Given the description of an element on the screen output the (x, y) to click on. 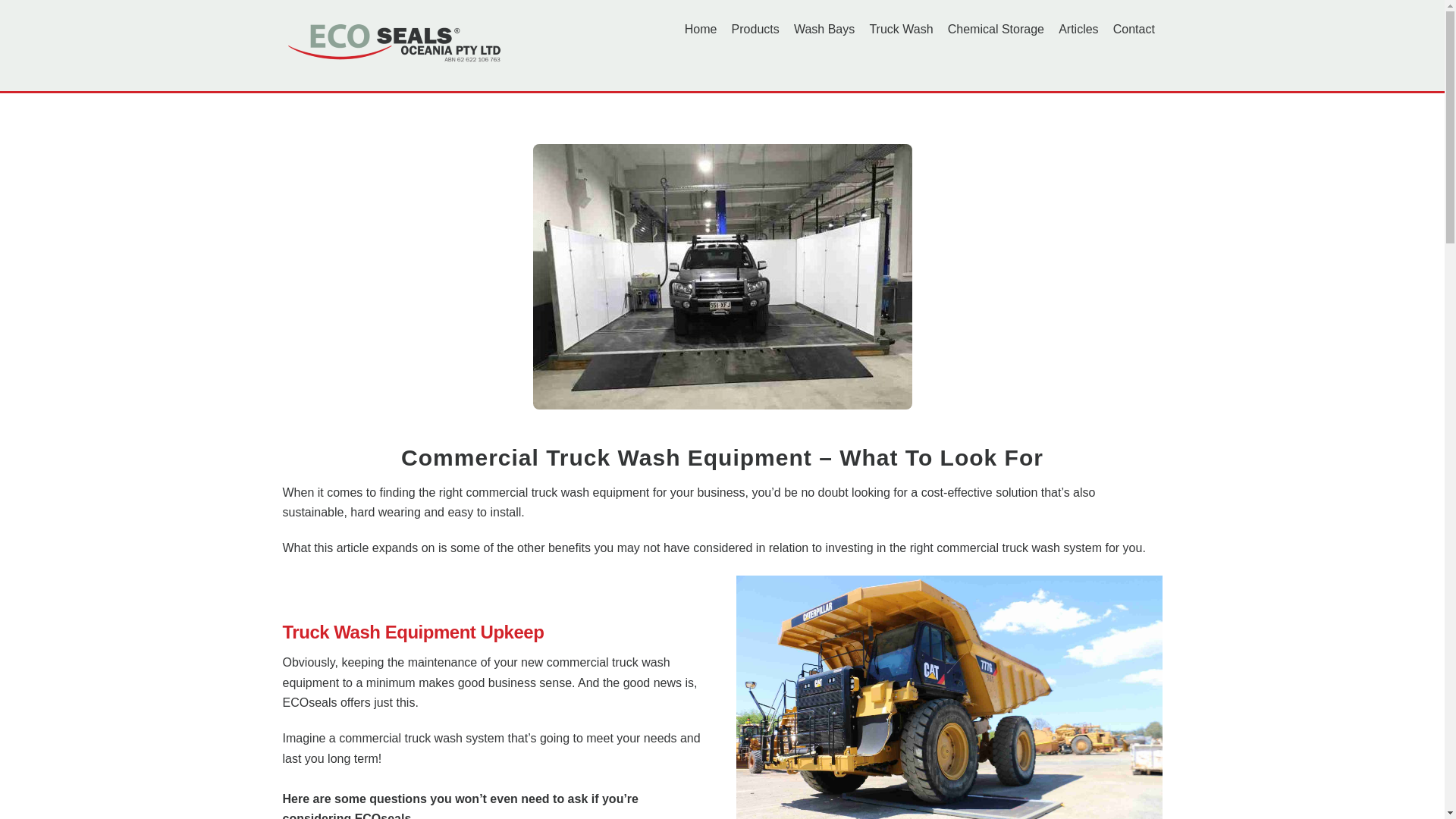
Chemical Storage Element type: text (995, 29)
Wash Bays Element type: text (824, 29)
ECOSeals Oceania Pty Ltd Element type: hover (395, 42)
Articles Element type: text (1078, 29)
ECOSeals Oceania Pty Ltd Element type: hover (395, 61)
Products Element type: text (755, 29)
Truck Wash Element type: text (901, 29)
Contact Element type: text (1133, 29)
Home Element type: text (700, 29)
